Given the description of an element on the screen output the (x, y) to click on. 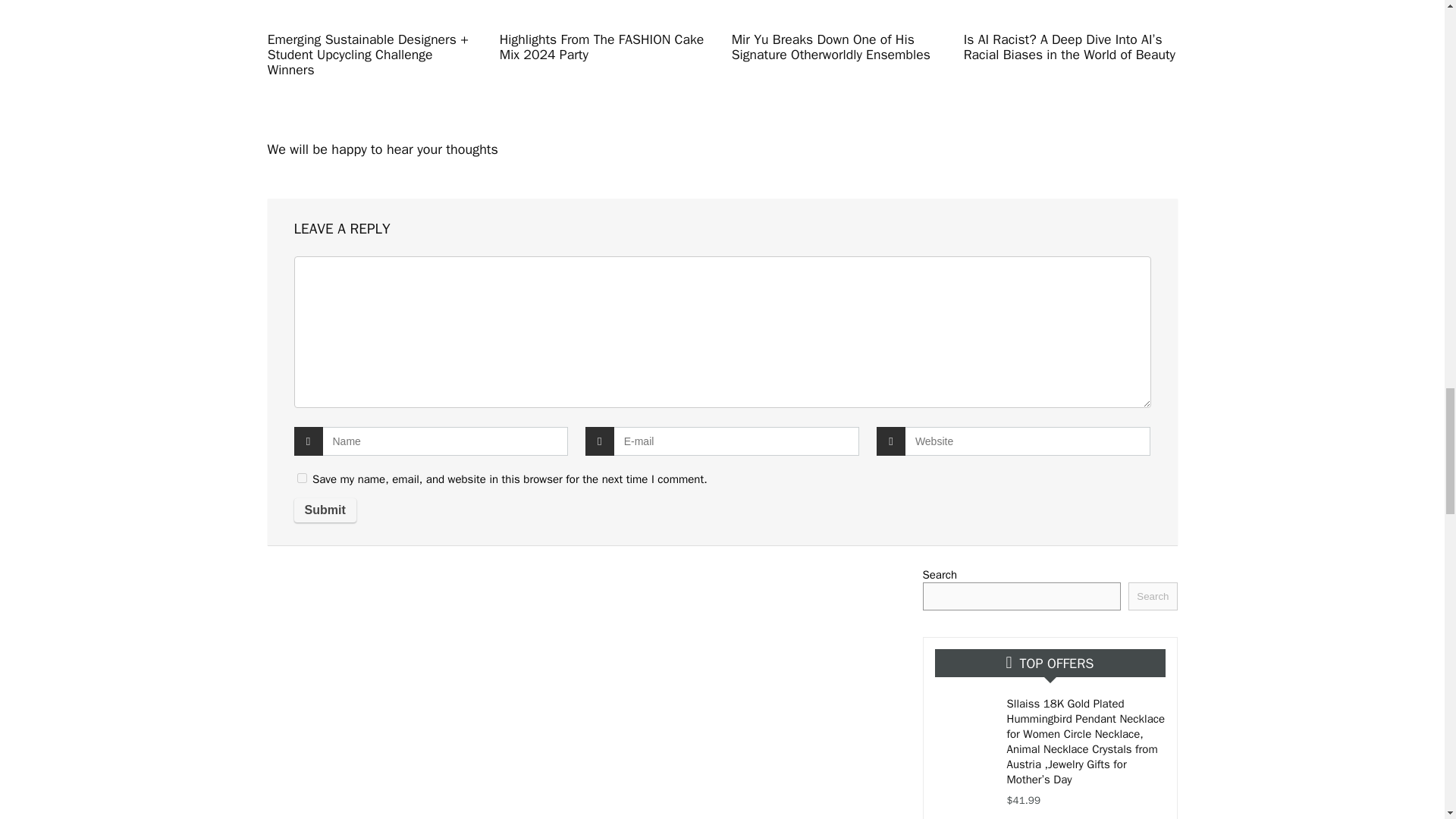
Submit (325, 509)
yes (302, 478)
